Given the description of an element on the screen output the (x, y) to click on. 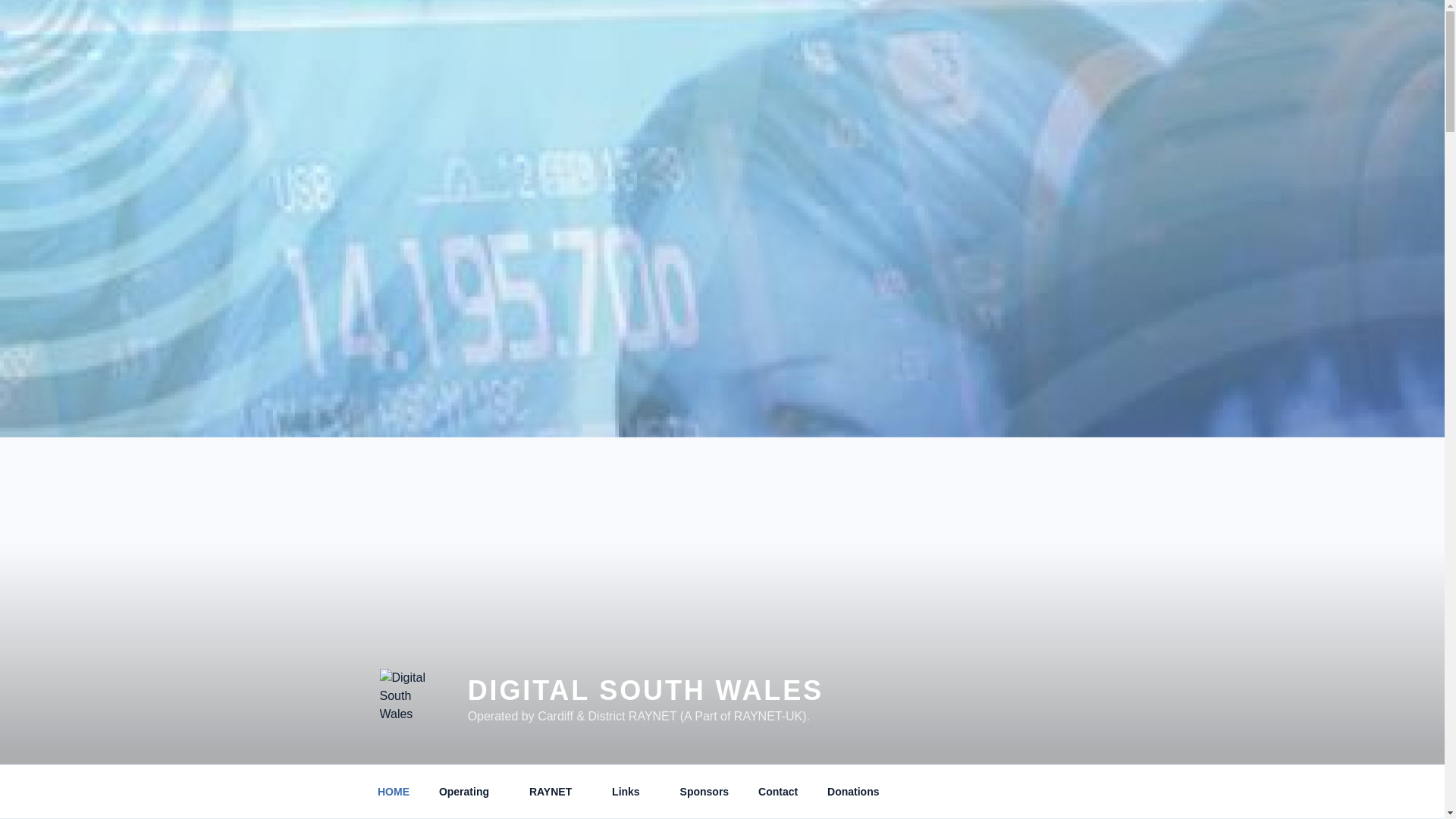
RAYNET (555, 791)
Scroll down to content (1082, 791)
HOME (393, 791)
Donations (852, 791)
Operating (468, 791)
Scroll down to content (1082, 791)
DIGITAL SOUTH WALES (645, 689)
Contact (777, 791)
Links (630, 791)
Sponsors (704, 791)
